Given the description of an element on the screen output the (x, y) to click on. 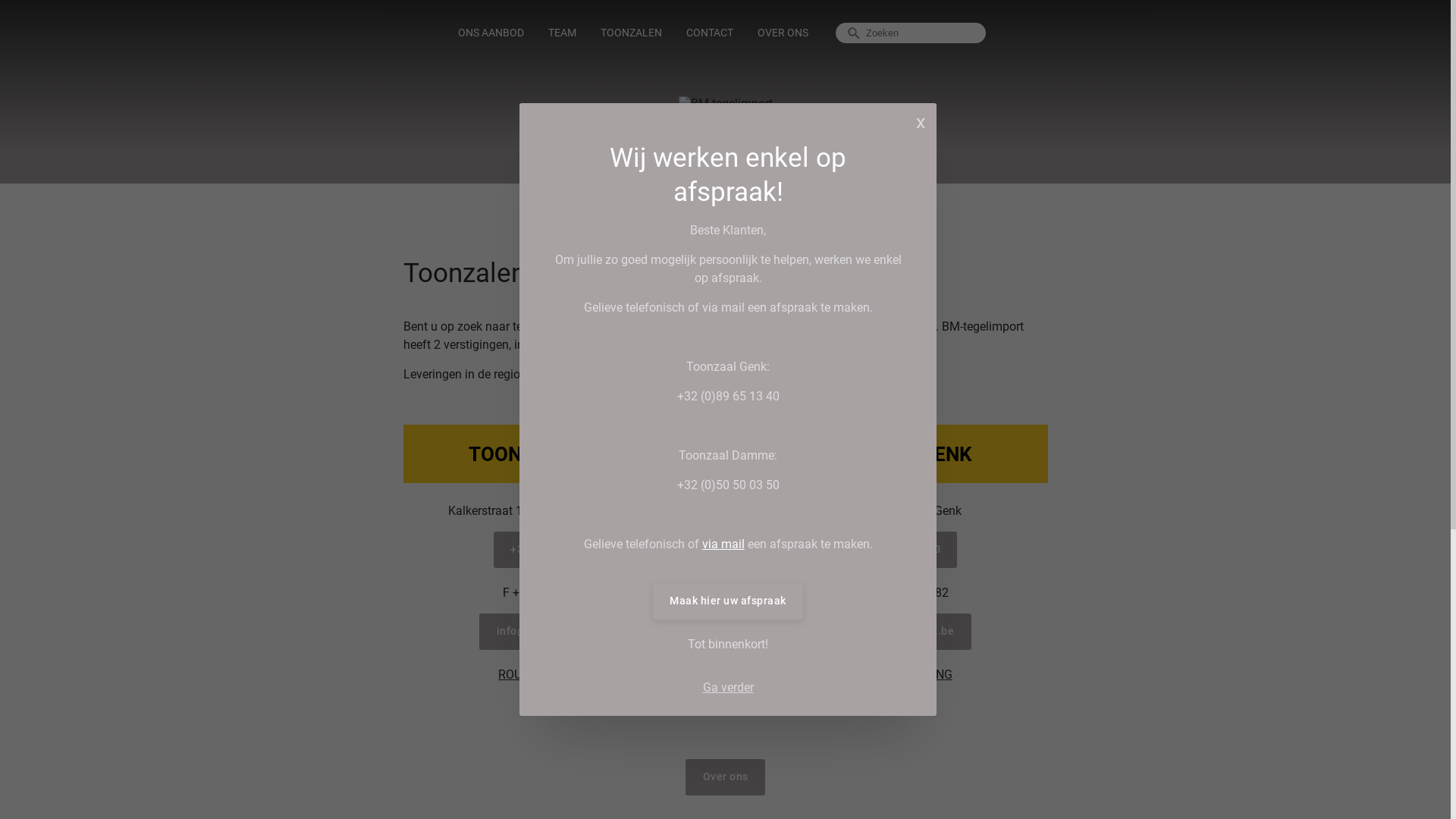
ONS AANBOD Element type: text (490, 32)
info@bmtegelimport.be Element type: text (891, 631)
ROUTEBESCHRIJVING Element type: text (558, 674)
info@bmtegelimport.be Element type: text (558, 631)
TEAM Element type: text (562, 32)
via mail Element type: text (723, 544)
TOONZALEN Element type: text (630, 32)
BM tegelimport Element type: hover (724, 103)
OVER ONS Element type: text (782, 32)
Maak hier uw afspraak Element type: text (727, 601)
Over ons Element type: text (725, 777)
Ga verder Element type: text (728, 687)
CONTACT Element type: text (709, 32)
+32 (0)50 50 03 50 Element type: text (558, 549)
+32 (0)89 65 13 40 Element type: text (892, 549)
x Element type: text (920, 121)
ROUTEBESCHRIJVING Element type: text (891, 674)
